Given the description of an element on the screen output the (x, y) to click on. 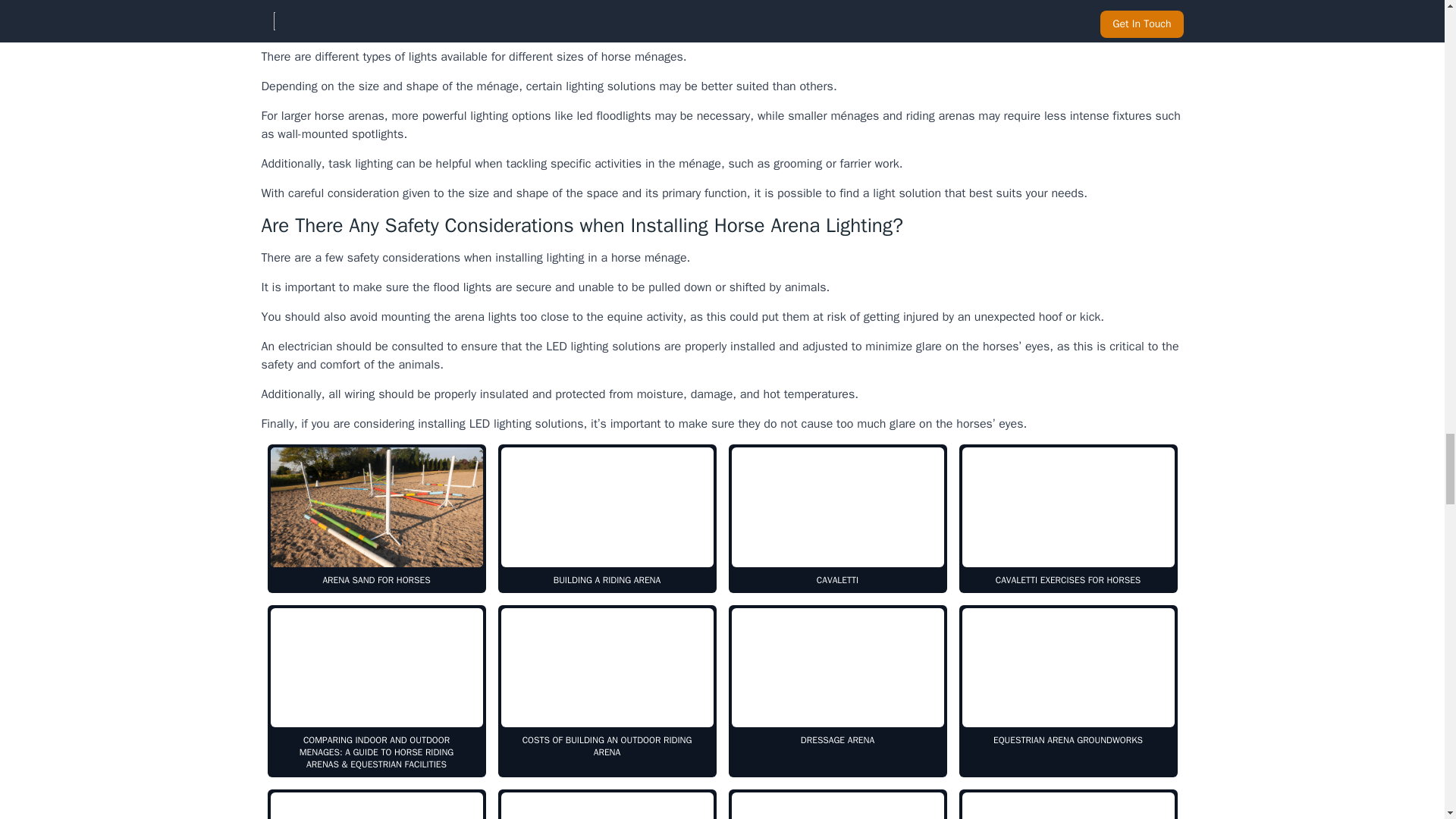
COSTS OF BUILDING AN OUTDOOR RIDING ARENA (606, 691)
HORSE ARENA MAINTENANCE (1067, 804)
ARENA SAND FOR HORSES (375, 518)
CAVALETTI (837, 518)
HORSE ARENA BASE OPTIONS (606, 804)
HORSE ARENA BLUEPRINTS (837, 804)
CAVALETTI EXERCISES FOR HORSES (1067, 518)
BUILDING A RIDING ARENA (606, 518)
HORSE ARENA AT HOME (375, 804)
DRESSAGE ARENA (837, 691)
EQUESTRIAN ARENA GROUNDWORKS (1067, 691)
